Given the description of an element on the screen output the (x, y) to click on. 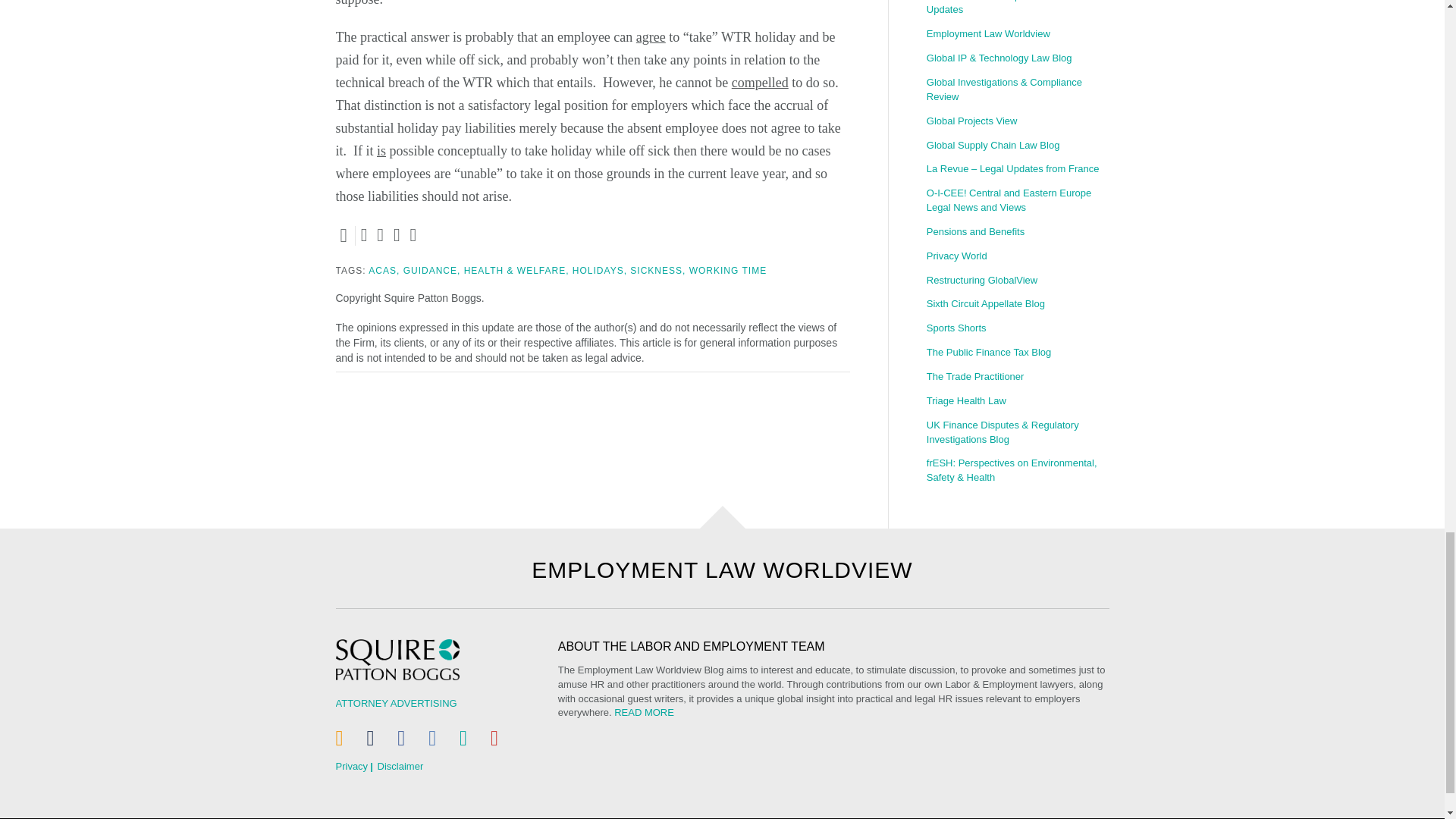
WORKING TIME (727, 270)
GUIDANCE, (432, 270)
HOLIDAYS, (599, 270)
ACAS, (383, 270)
SICKNESS, (657, 270)
